Given the description of an element on the screen output the (x, y) to click on. 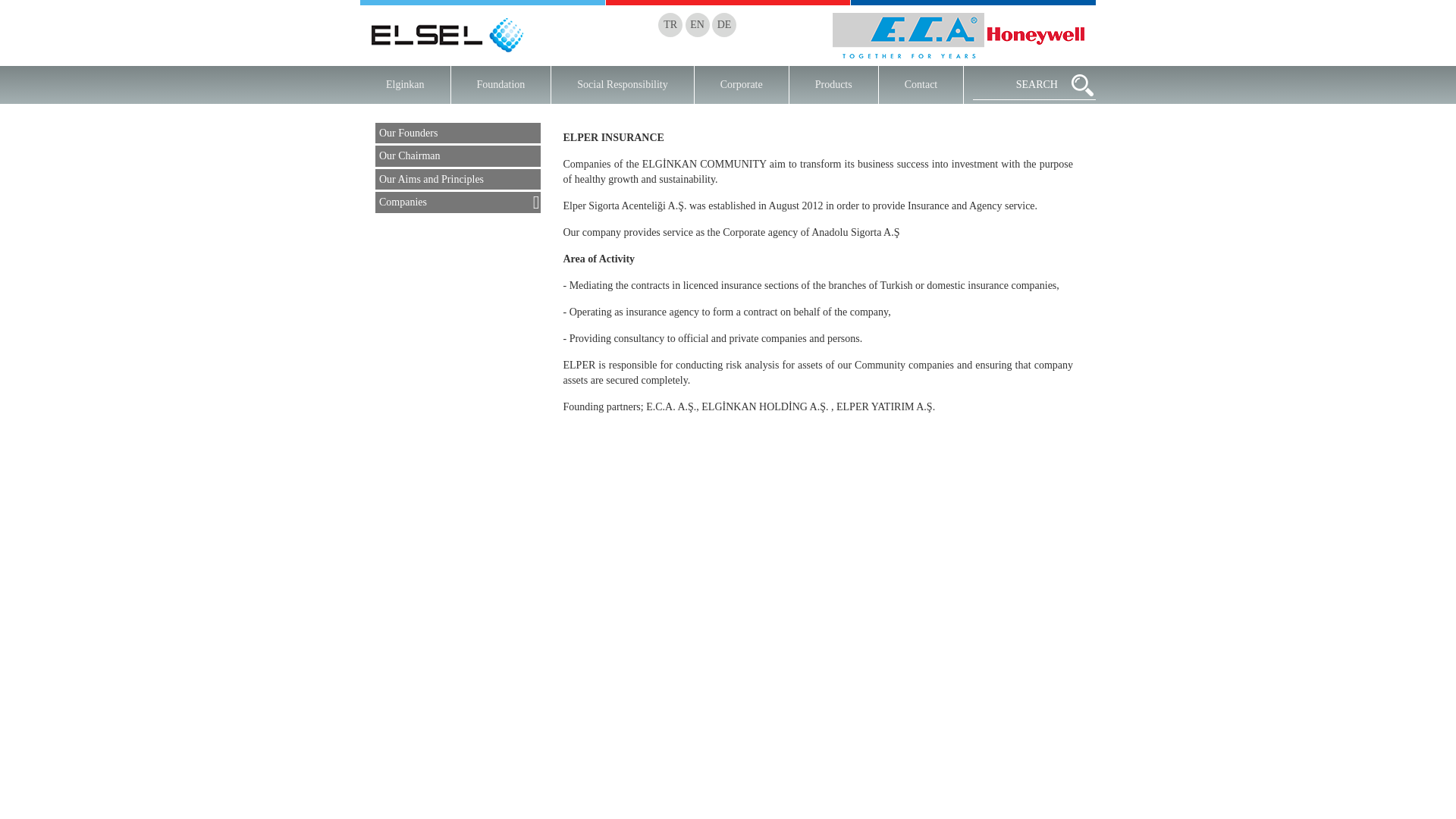
Social Responsibility (622, 85)
Companies (457, 201)
Elginkan (405, 85)
Our Chairman (457, 155)
Foundation (501, 85)
Corporate (741, 85)
Contact (921, 85)
TR (670, 24)
EN (697, 24)
Our Aims and Principles (457, 178)
